Given the description of an element on the screen output the (x, y) to click on. 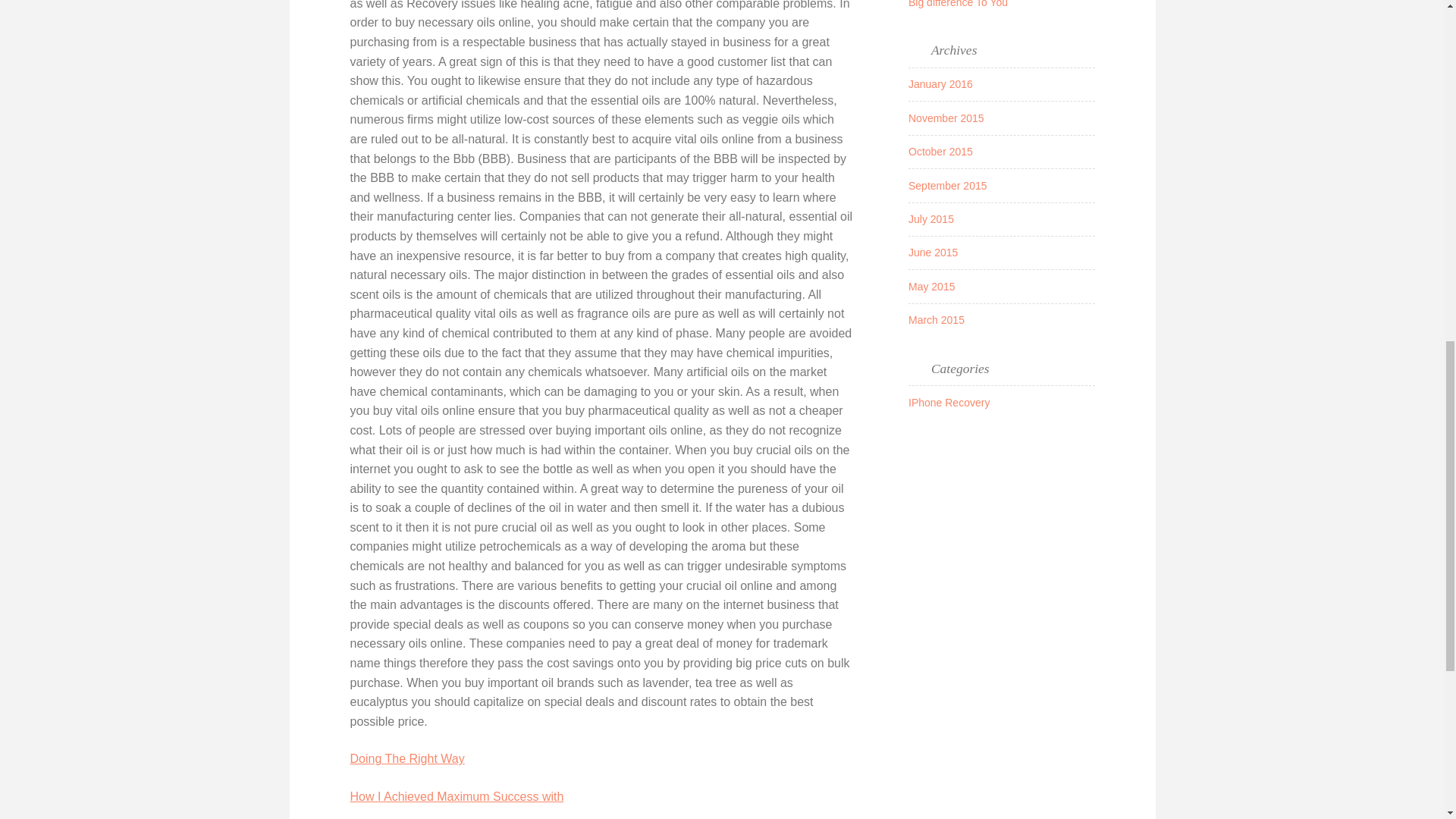
September 2015 (947, 185)
Doing The Right Way (407, 758)
How I Achieved Maximum Success with (457, 796)
January 2016 (940, 83)
June 2015 (933, 252)
October 2015 (940, 151)
March 2015 (935, 319)
July 2015 (930, 218)
May 2015 (931, 286)
The Iphone And How It Can Make A Big difference To You (992, 3)
